Given the description of an element on the screen output the (x, y) to click on. 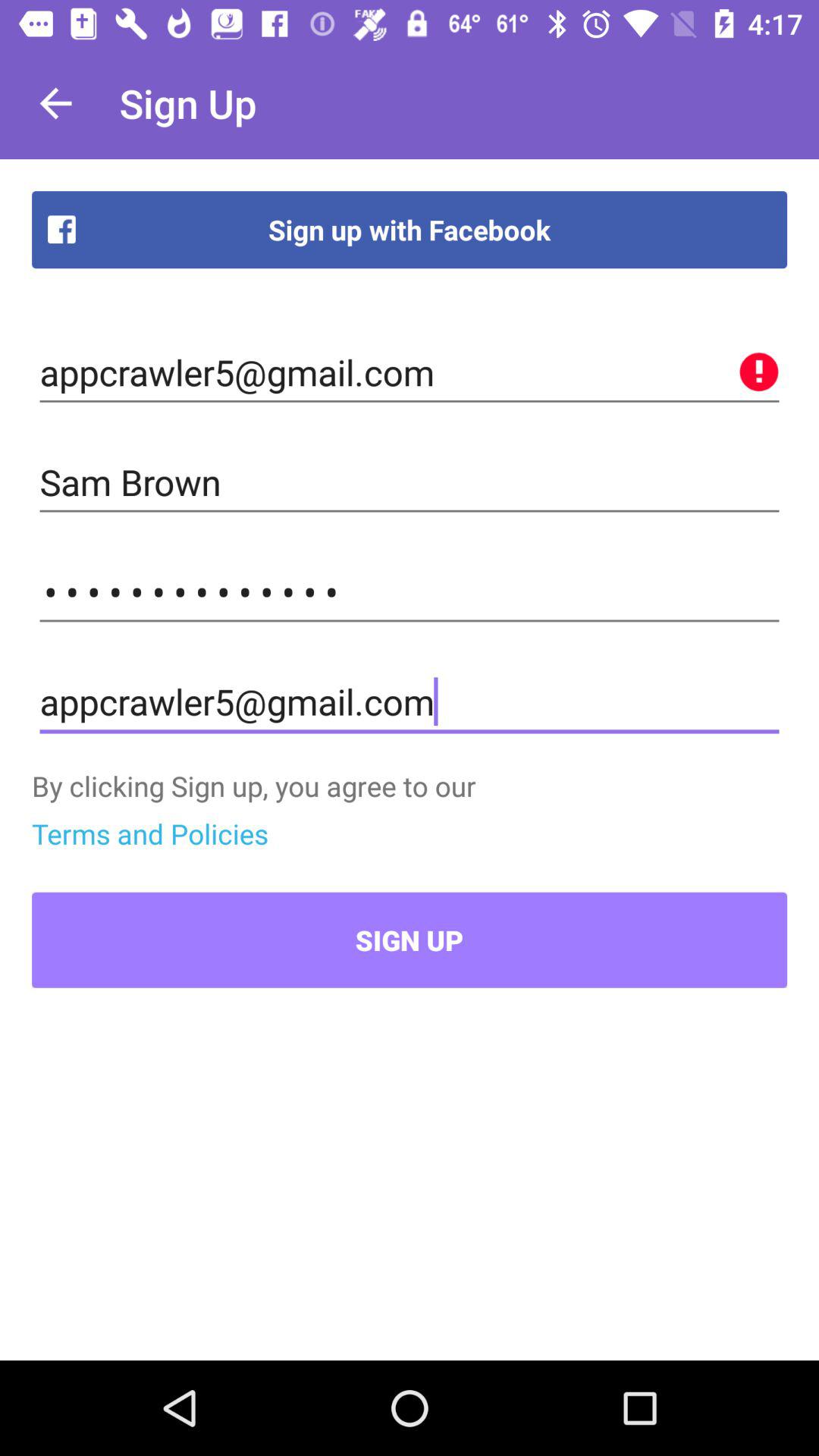
turn on the icon below sam brown item (409, 592)
